Given the description of an element on the screen output the (x, y) to click on. 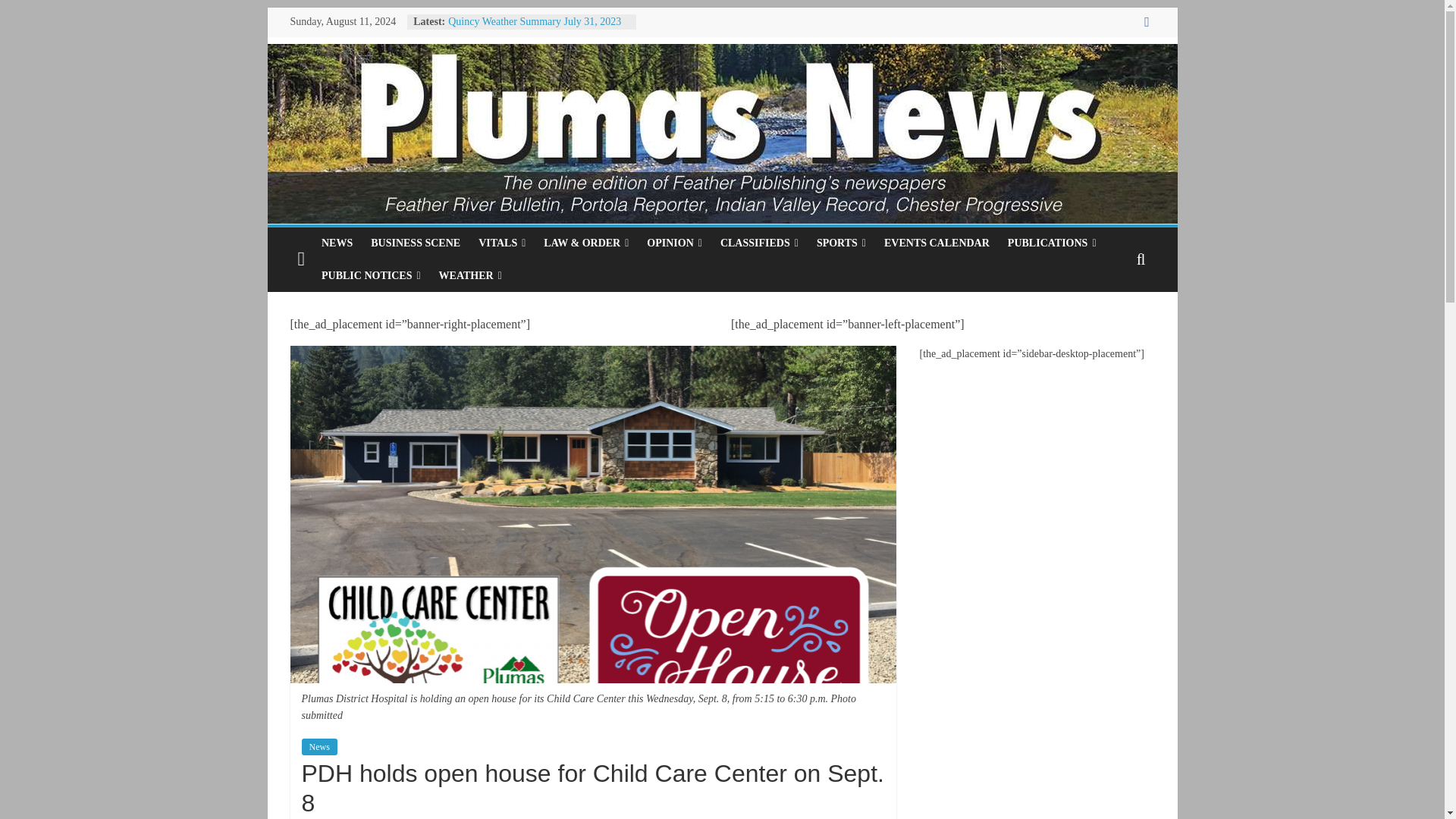
SPORTS (841, 243)
PUBLICATIONS (1051, 243)
VITALS (501, 243)
CLASSIFIEDS (759, 243)
EVENTS CALENDAR (936, 243)
OPINION (674, 243)
NEWS (337, 243)
Quincy Weather Summary July 31, 2023 (534, 21)
BUSINESS SCENE (414, 243)
